Given the description of an element on the screen output the (x, y) to click on. 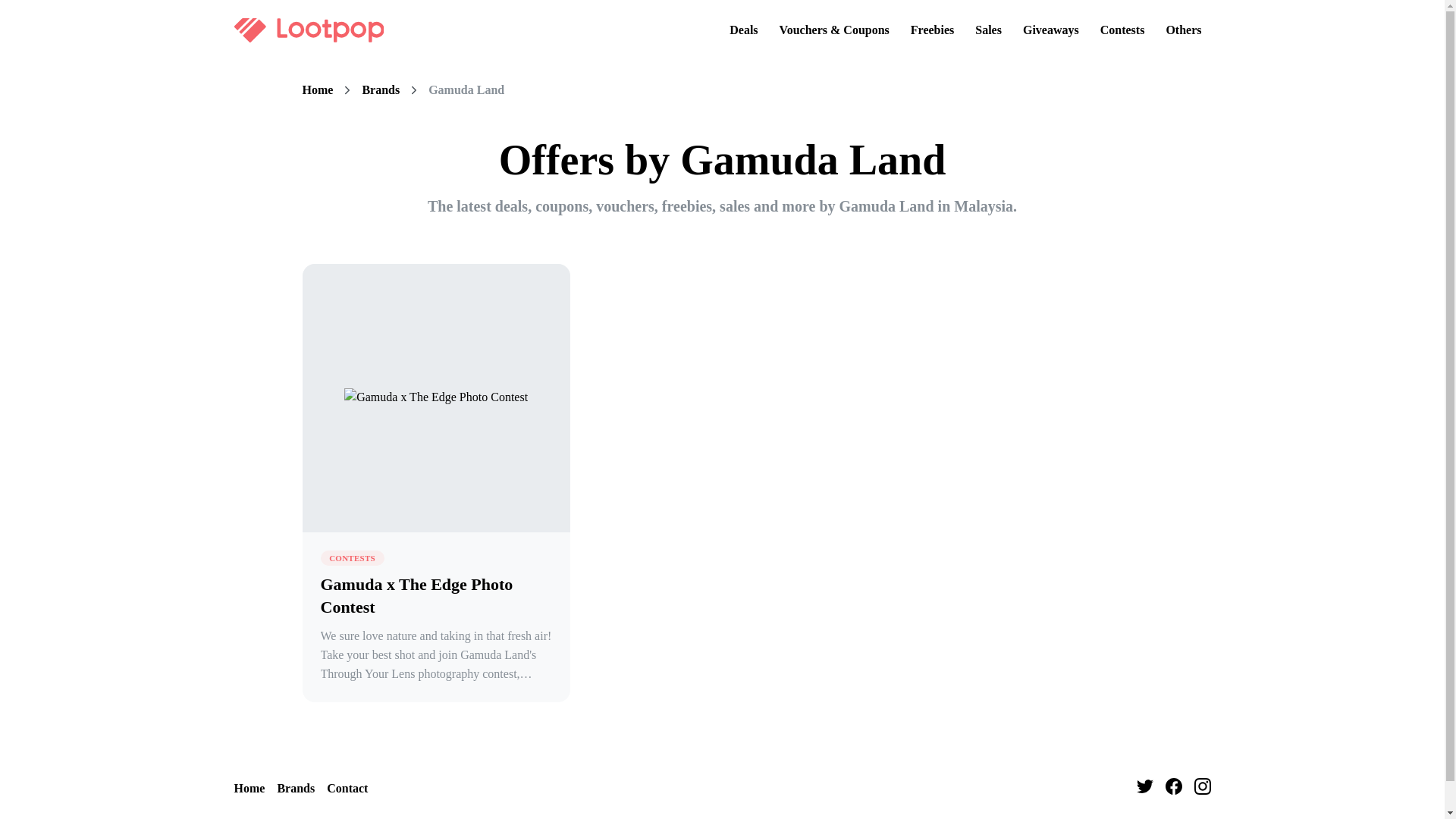
Sales (988, 30)
Contests (1122, 30)
Contact (347, 788)
Others (1182, 30)
Brands (379, 90)
Giveaways (1050, 30)
Brands (295, 788)
Deals (743, 30)
Freebies (931, 30)
Home (248, 788)
